Given the description of an element on the screen output the (x, y) to click on. 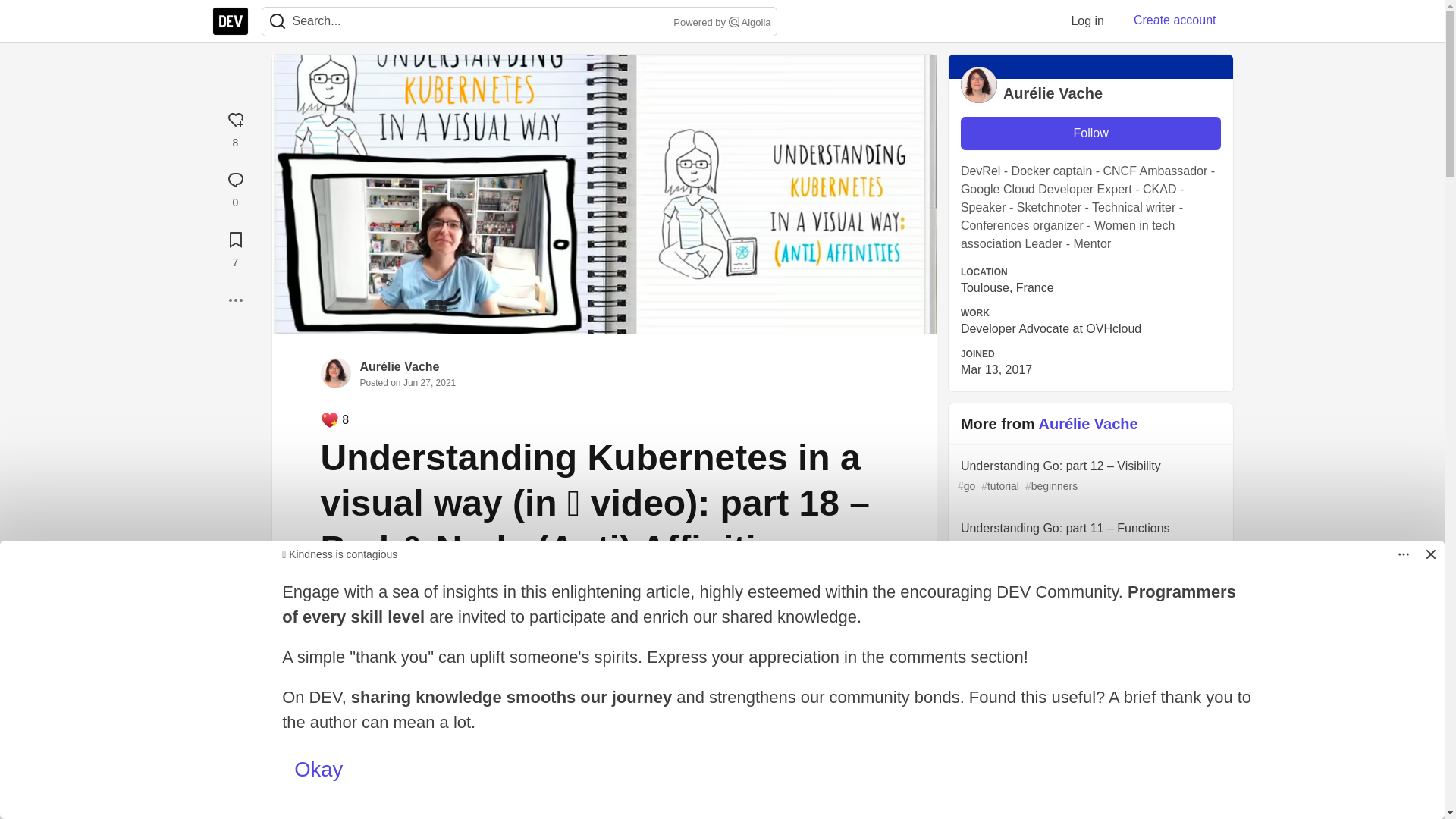
More... (234, 299)
7 (235, 247)
Powered by Algolia (720, 22)
Close (1430, 554)
Sunday, June 27, 2021 at 9:19:24 PM (429, 382)
Create account (1174, 20)
Published Feb 13 '21 (604, 773)
View more (604, 807)
Published Feb 6 '21 (604, 807)
More... (604, 730)
Dropdown menu (234, 300)
Log in (1403, 554)
0 (1087, 20)
